Given the description of an element on the screen output the (x, y) to click on. 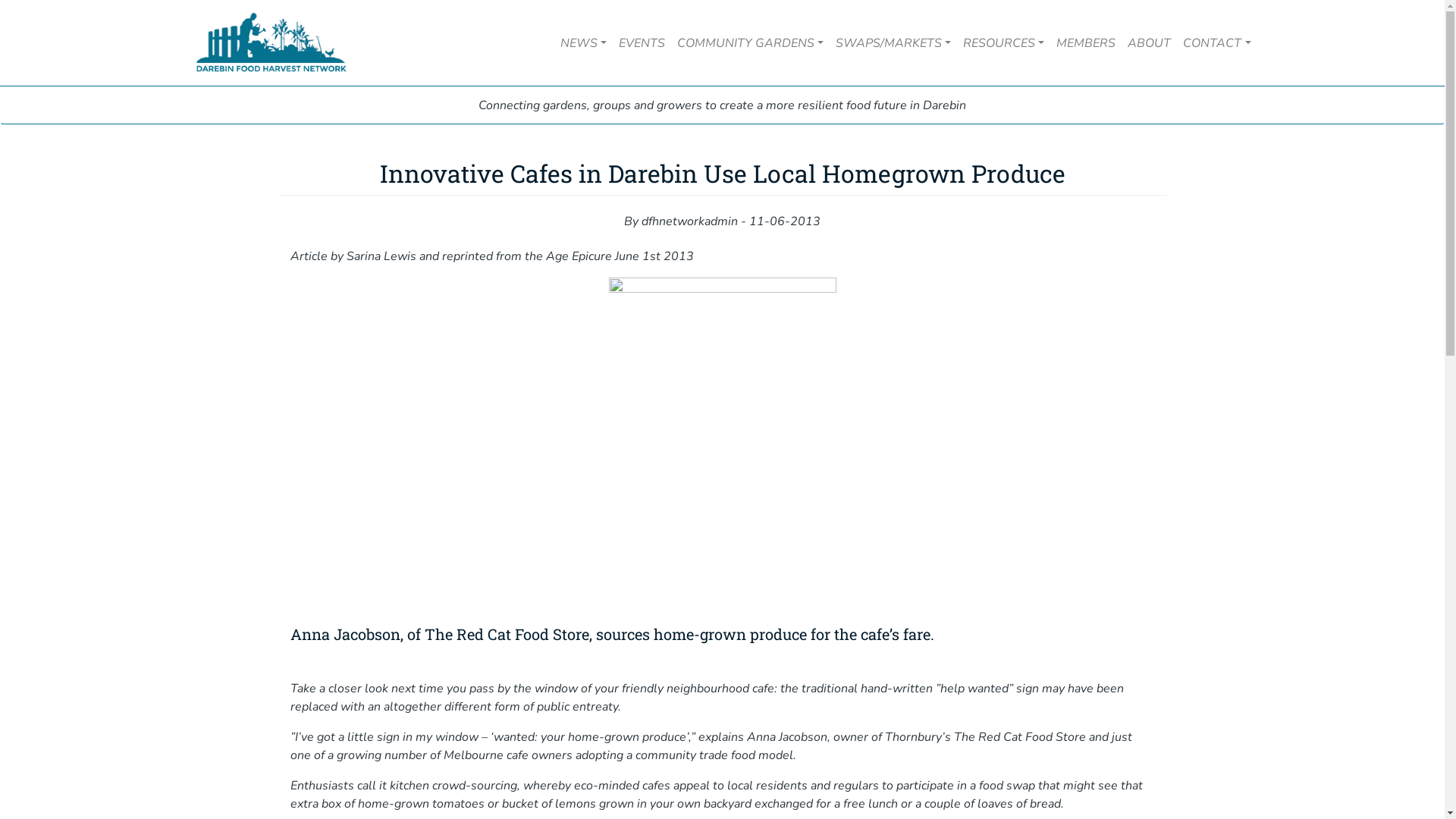
ABOUT Element type: text (1148, 43)
Anna Jacobson at Red Cat Food Store Element type: hover (721, 447)
CONTACT Element type: text (1216, 43)
NEWS Element type: text (583, 43)
SWAPS/MARKETS Element type: text (893, 43)
RESOURCES Element type: text (1003, 43)
COMMUNITY GARDENS Element type: text (750, 43)
MEMBERS Element type: text (1085, 43)
EVENTS Element type: text (641, 43)
